Given the description of an element on the screen output the (x, y) to click on. 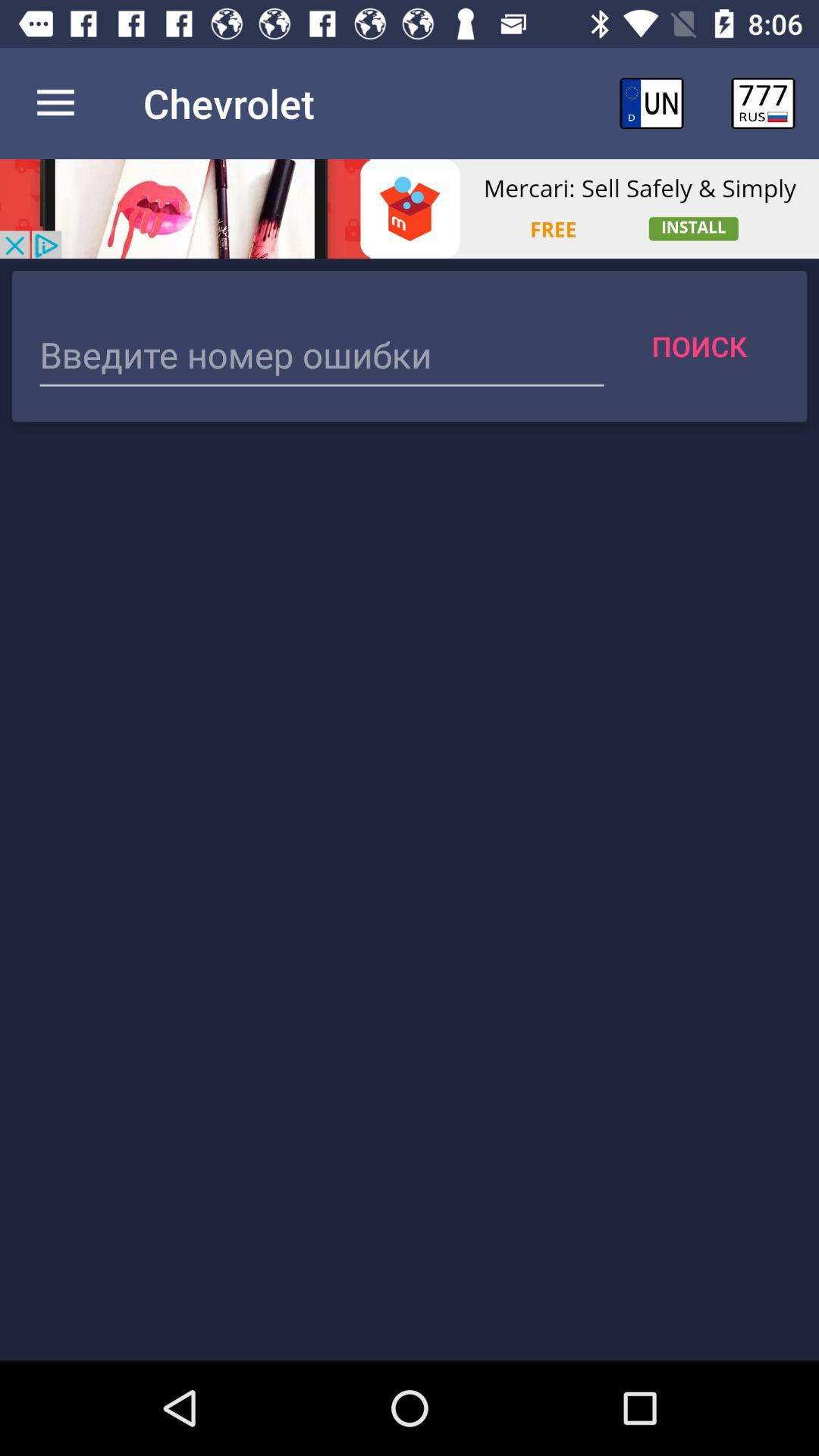
text the line (321, 357)
